Given the description of an element on the screen output the (x, y) to click on. 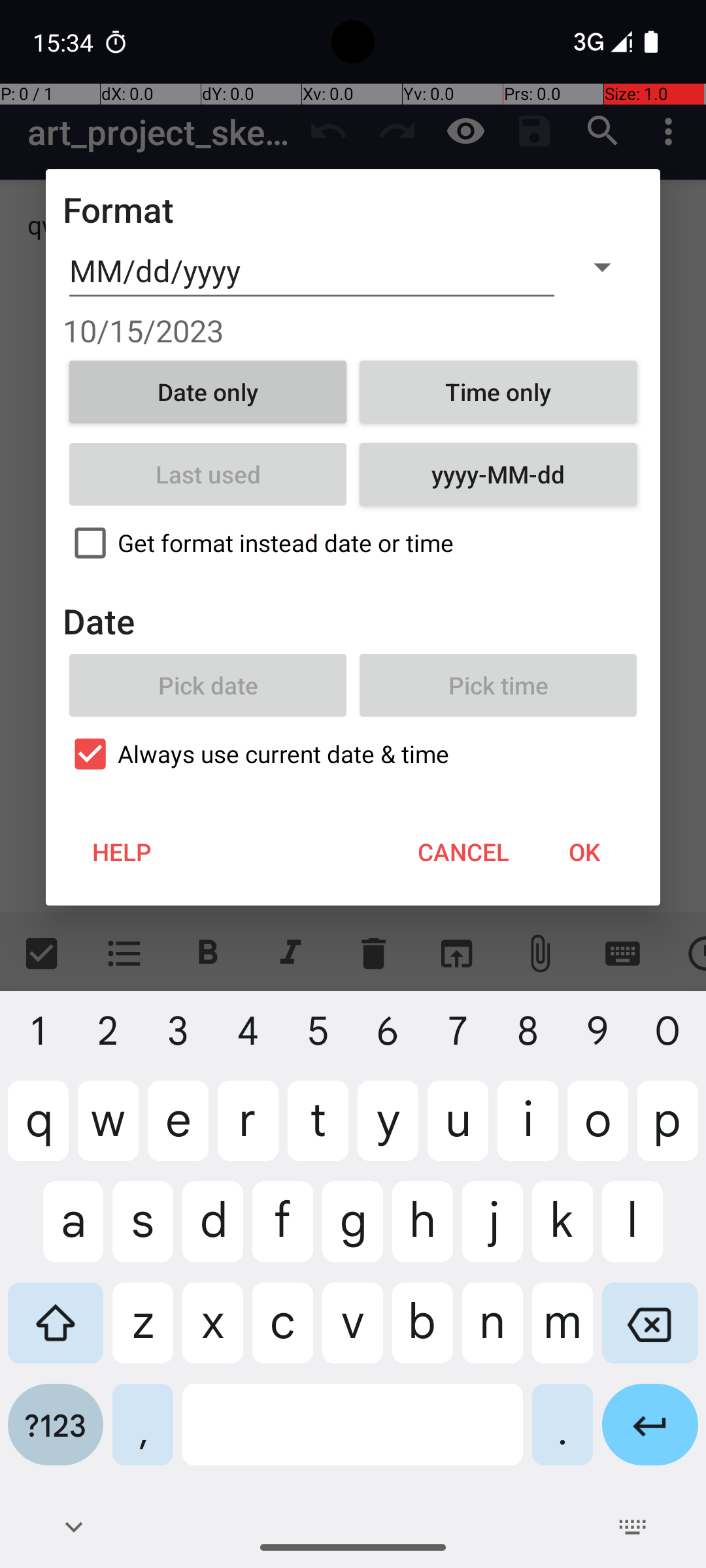
MM/dd/yyyy Element type: android.widget.EditText (311, 270)
10/15/2023 Element type: android.widget.TextView (352, 329)
